Given the description of an element on the screen output the (x, y) to click on. 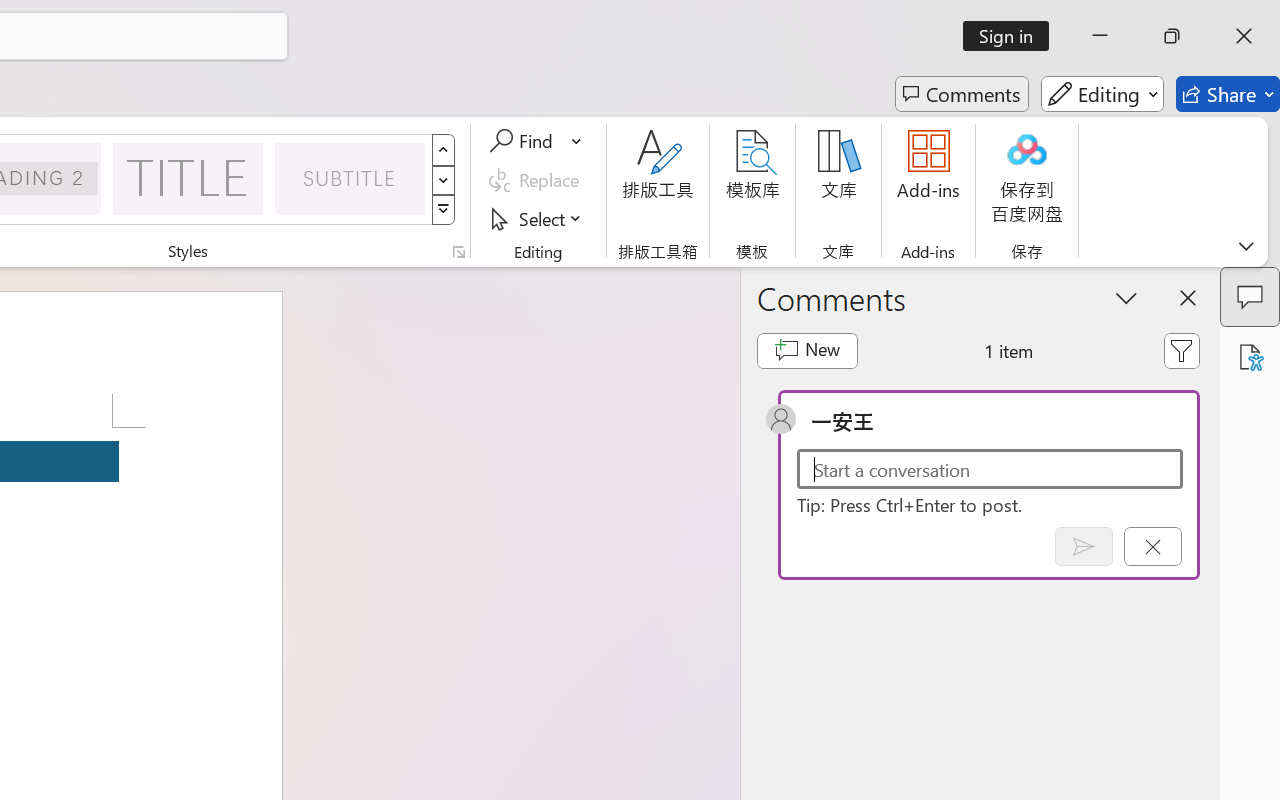
Start a conversation (990, 468)
Accessibility Assistant (1249, 357)
Title (187, 178)
